Given the description of an element on the screen output the (x, y) to click on. 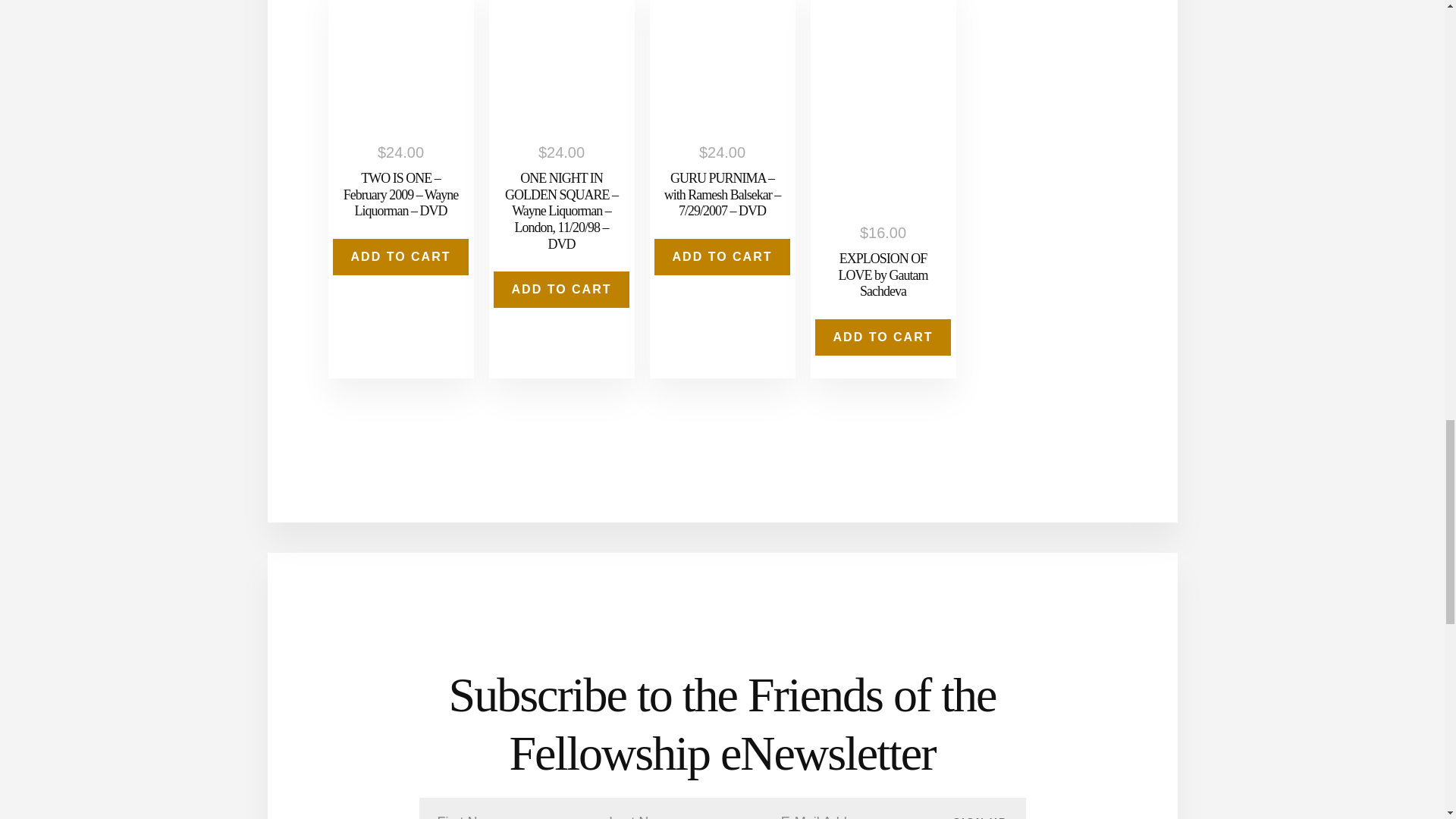
ADD TO CART (400, 257)
Sign Up (980, 808)
ADD TO CART (883, 337)
ADD TO CART (721, 257)
ADD TO CART (561, 289)
